Given the description of an element on the screen output the (x, y) to click on. 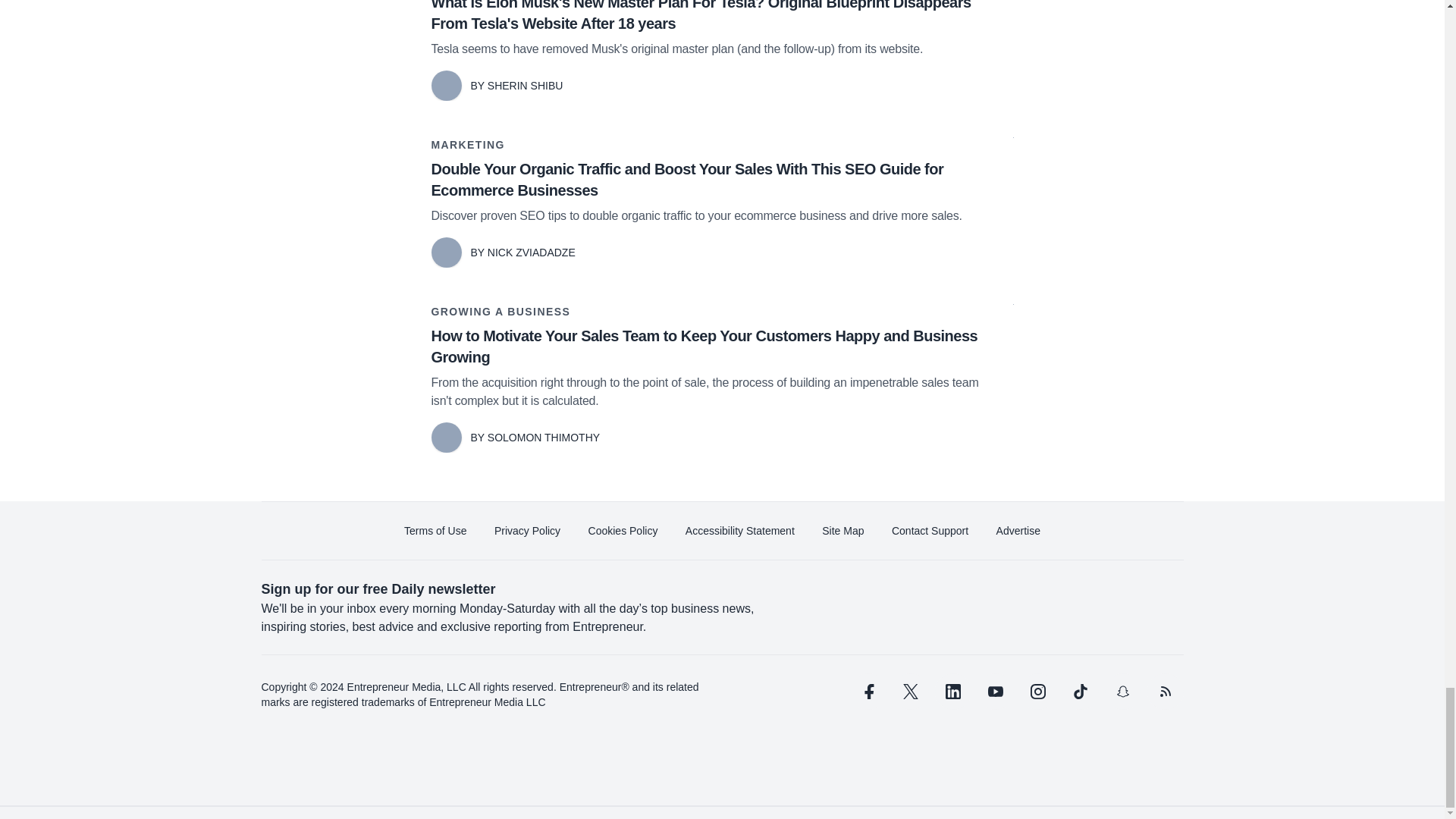
linkedin (952, 691)
youtube (994, 691)
snapchat (1121, 691)
facebook (866, 691)
twitter (909, 691)
tiktok (1079, 691)
instagram (1037, 691)
